Given the description of an element on the screen output the (x, y) to click on. 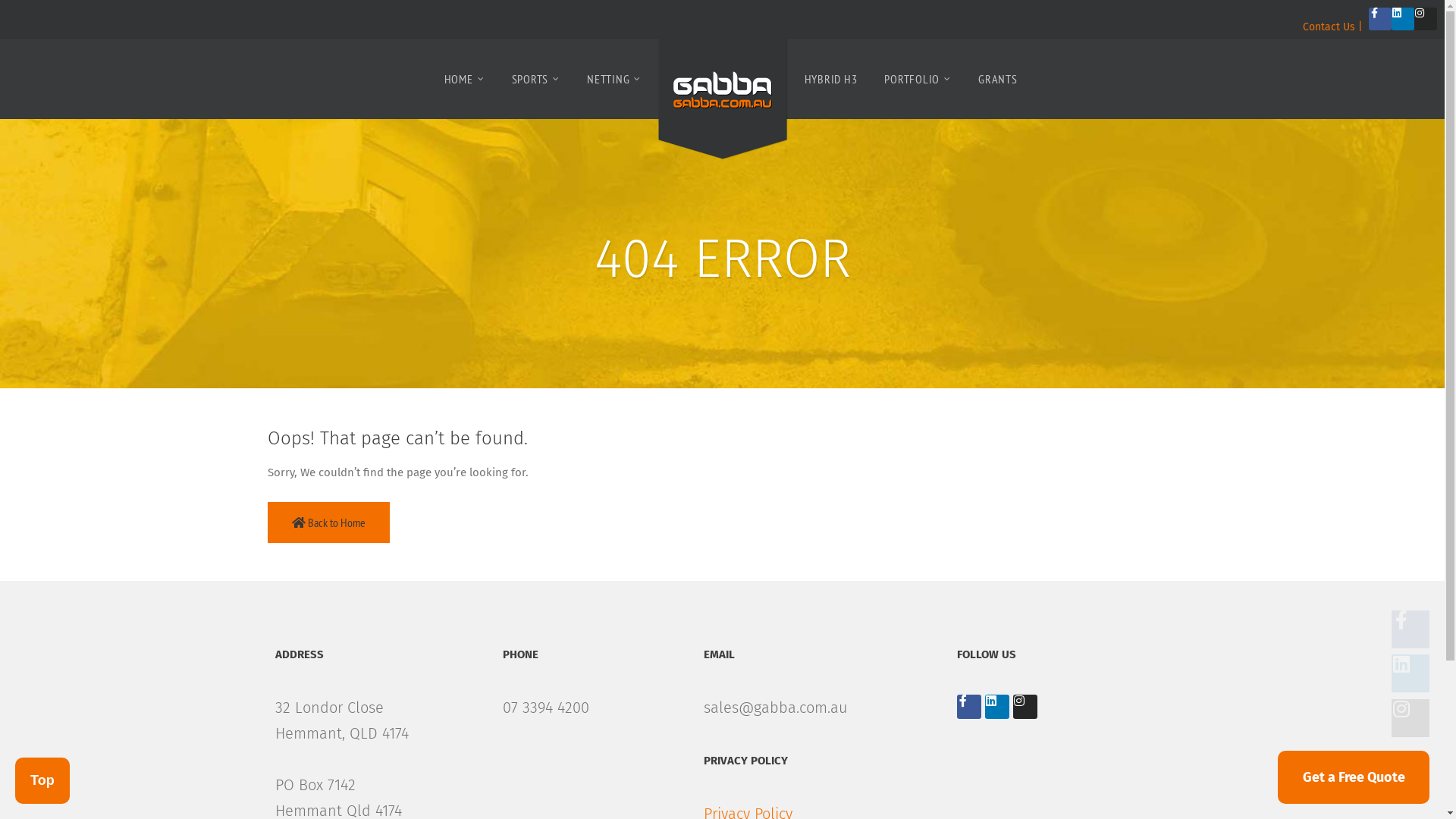
SPORTS Element type: text (536, 78)
NETTING Element type: text (613, 78)
HYBRID H3 Element type: text (830, 78)
PORTFOLIO Element type: text (917, 78)
Top Element type: text (42, 780)
Contact Us | Element type: text (1332, 26)
GRANTS Element type: text (997, 78)
Get a Free Quote Element type: text (1353, 776)
Sports Netting and Surfaces Element type: hover (721, 101)
Back to Home Element type: text (327, 522)
HOME Element type: text (464, 78)
